Given the description of an element on the screen output the (x, y) to click on. 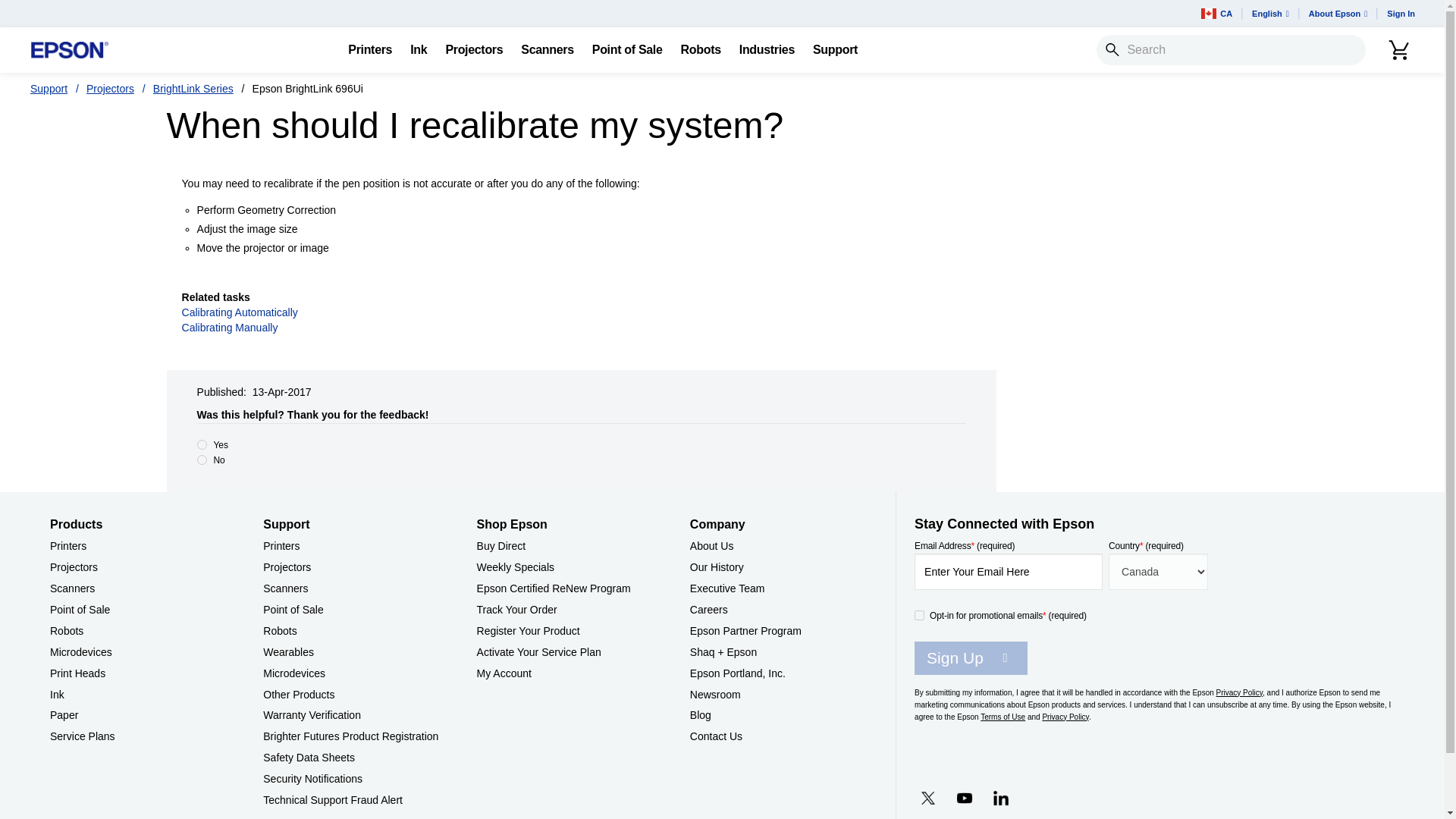
About Epson (1337, 13)
on (919, 614)
yes (201, 444)
English (1270, 13)
CA (1216, 13)
Sign In (1400, 13)
no (201, 460)
Epson Logo (69, 49)
English (1270, 13)
CA (1216, 13)
Sign In (1400, 13)
